Given the description of an element on the screen output the (x, y) to click on. 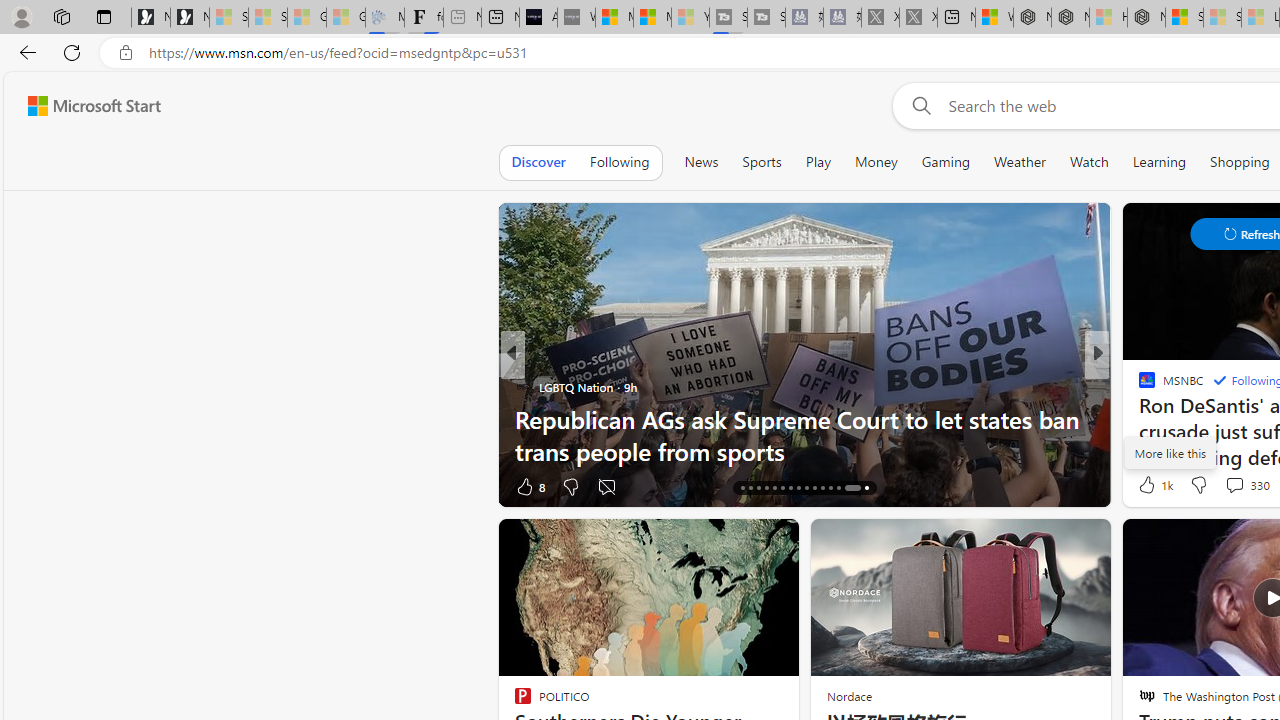
AutomationID: tab-17 (750, 487)
View comments 96 Comment (11, 485)
AI Voice Changer for PC and Mac - Voice.ai (537, 17)
View comments 353 Comment (11, 485)
AutomationID: tab-22 (789, 487)
This story is trending (449, 490)
